Given the description of an element on the screen output the (x, y) to click on. 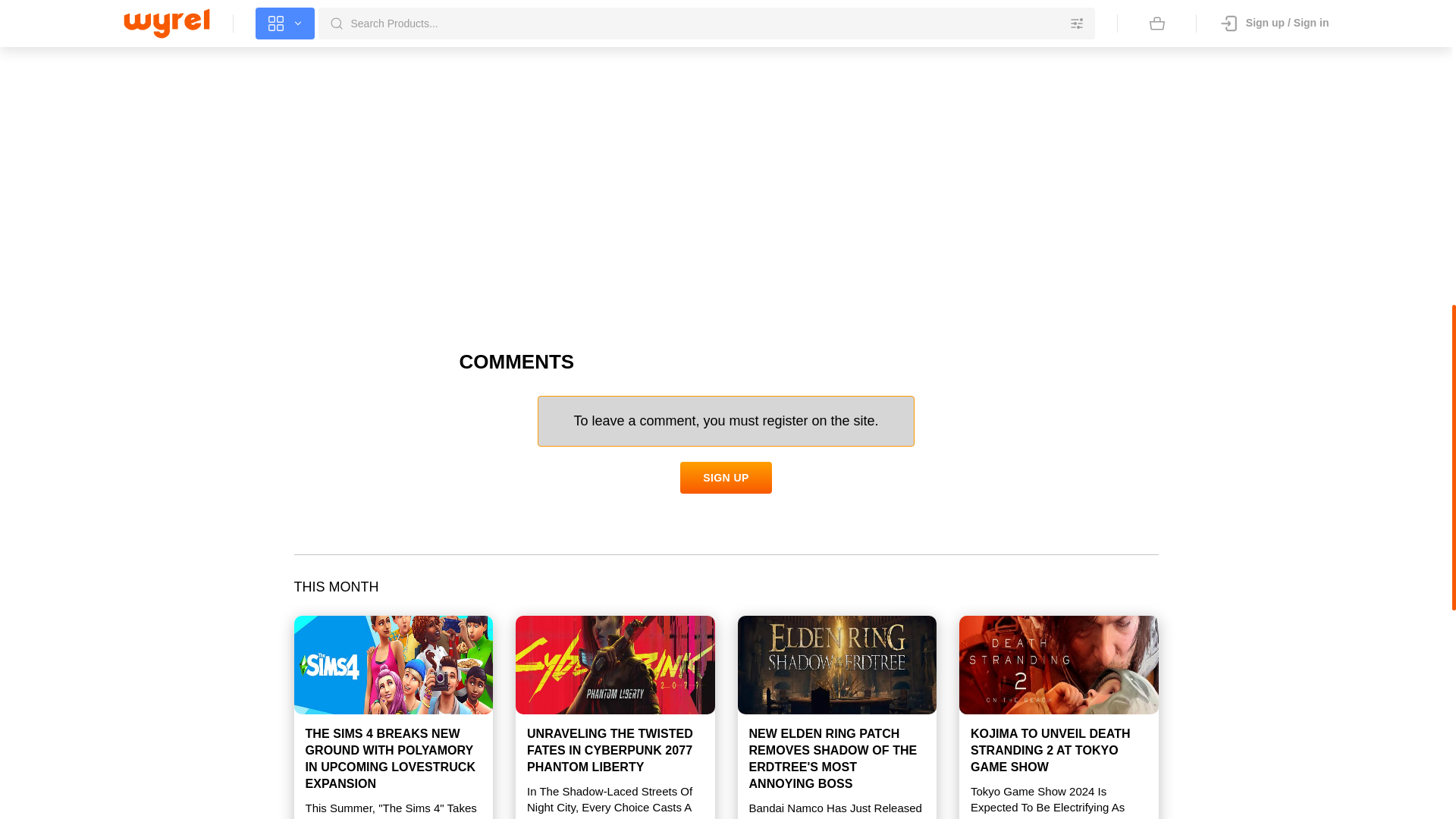
Kojima to Unveil Death Stranding 2 at Tokyo Game Show (1058, 664)
